Given the description of an element on the screen output the (x, y) to click on. 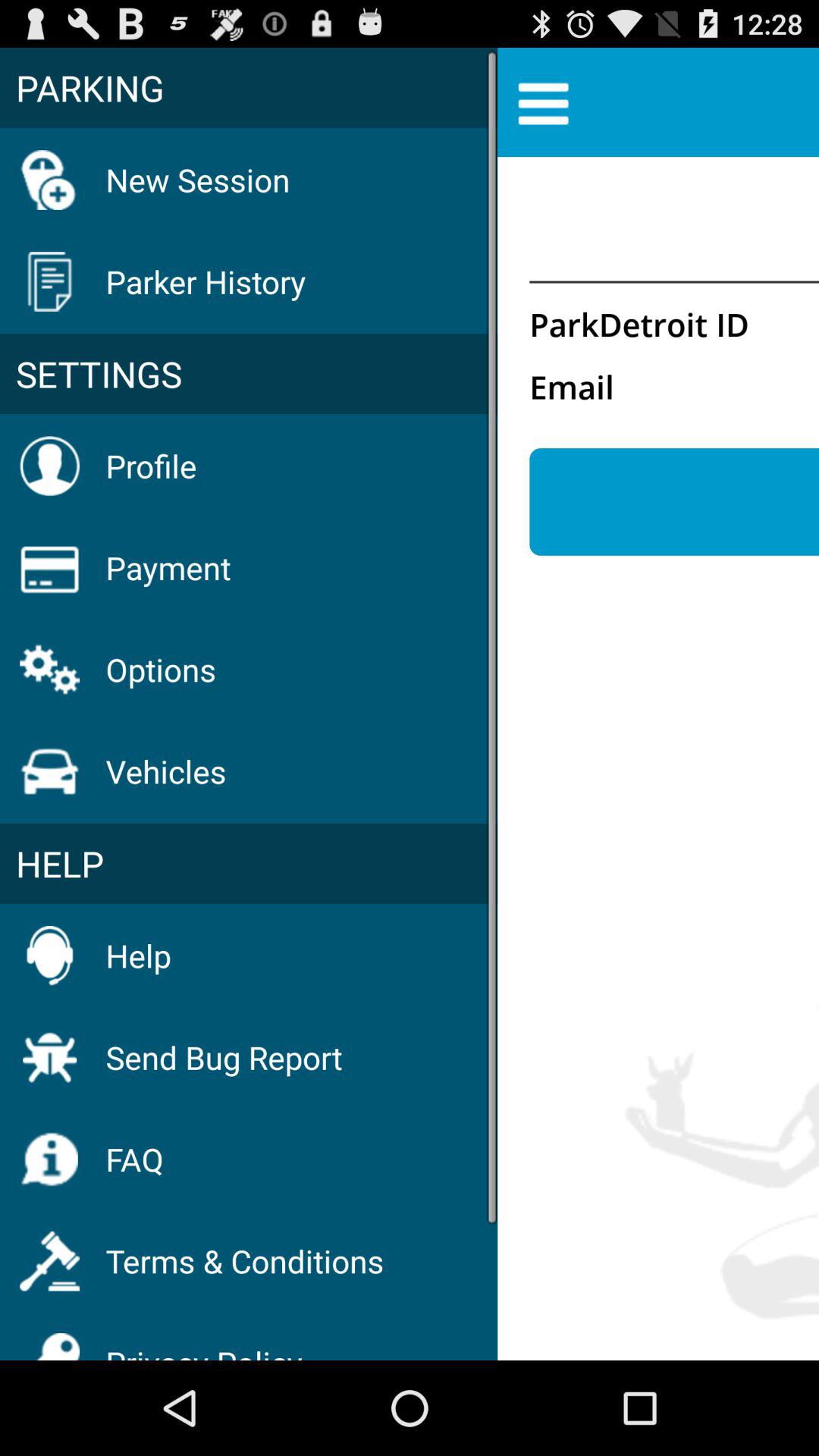
tap the parker history icon (205, 281)
